Given the description of an element on the screen output the (x, y) to click on. 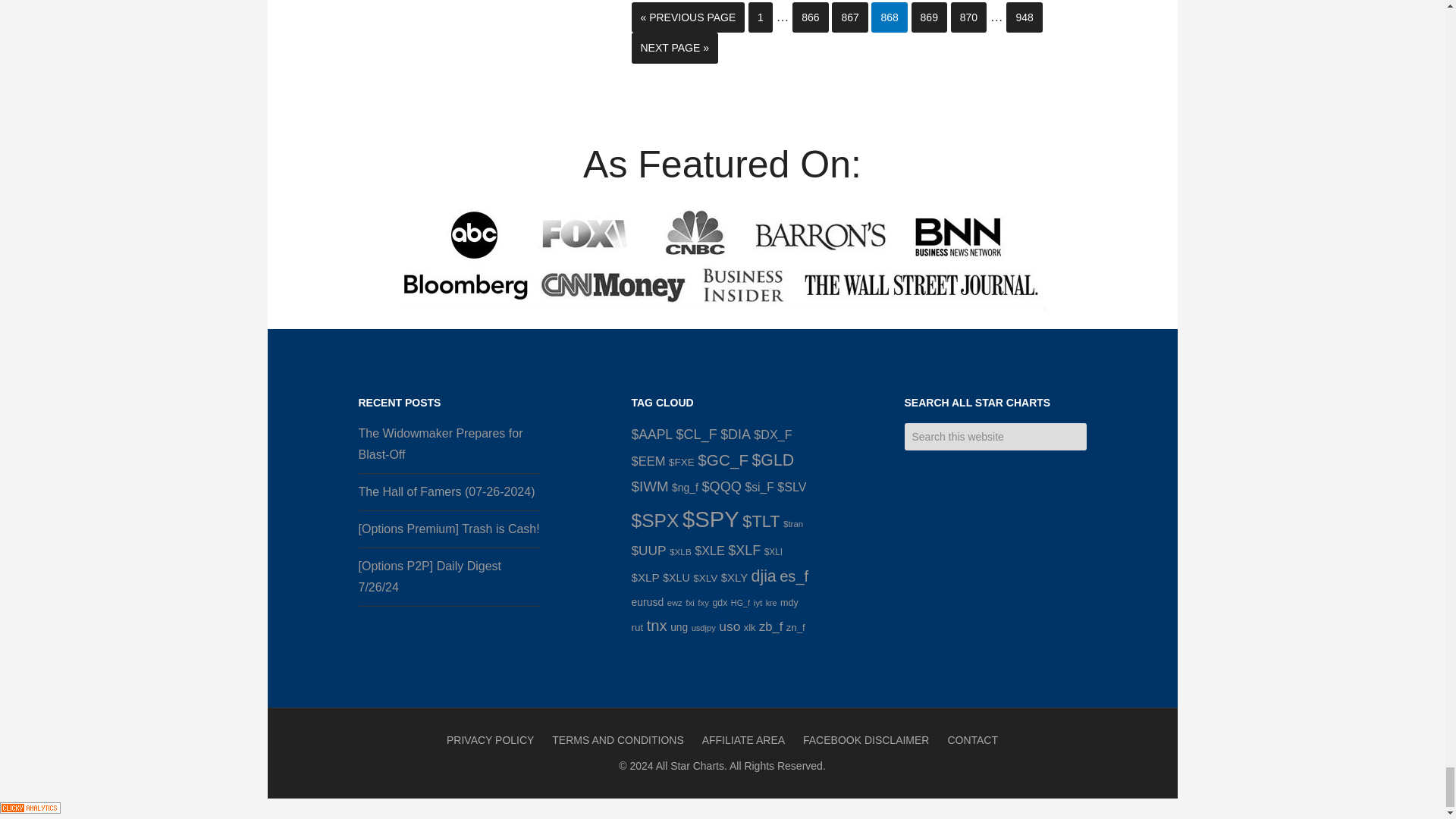
Real Time Analytics (30, 809)
Search (1097, 429)
Search (1097, 429)
